Given the description of an element on the screen output the (x, y) to click on. 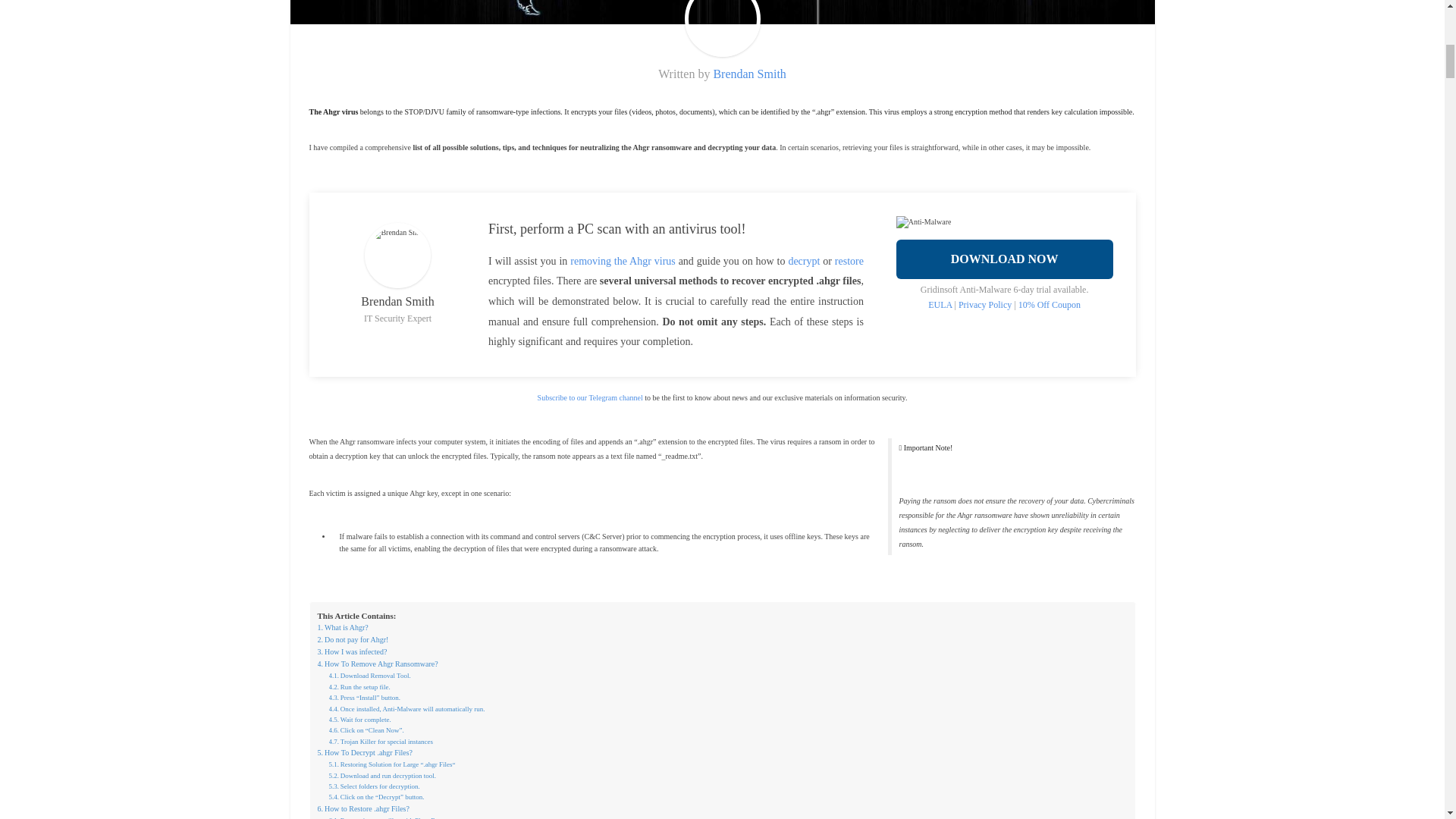
Privacy Policy (984, 304)
How To Remove Ahgr Ransomware? (377, 664)
What is Ahgr? (342, 627)
Run the setup file. (359, 686)
How I was infected? (352, 652)
decrypt (803, 260)
Download Removal Tool. (369, 675)
Do not pay for Ahgr! (352, 639)
Do not pay for Ahgr! (352, 639)
EULA (940, 304)
